Given the description of an element on the screen output the (x, y) to click on. 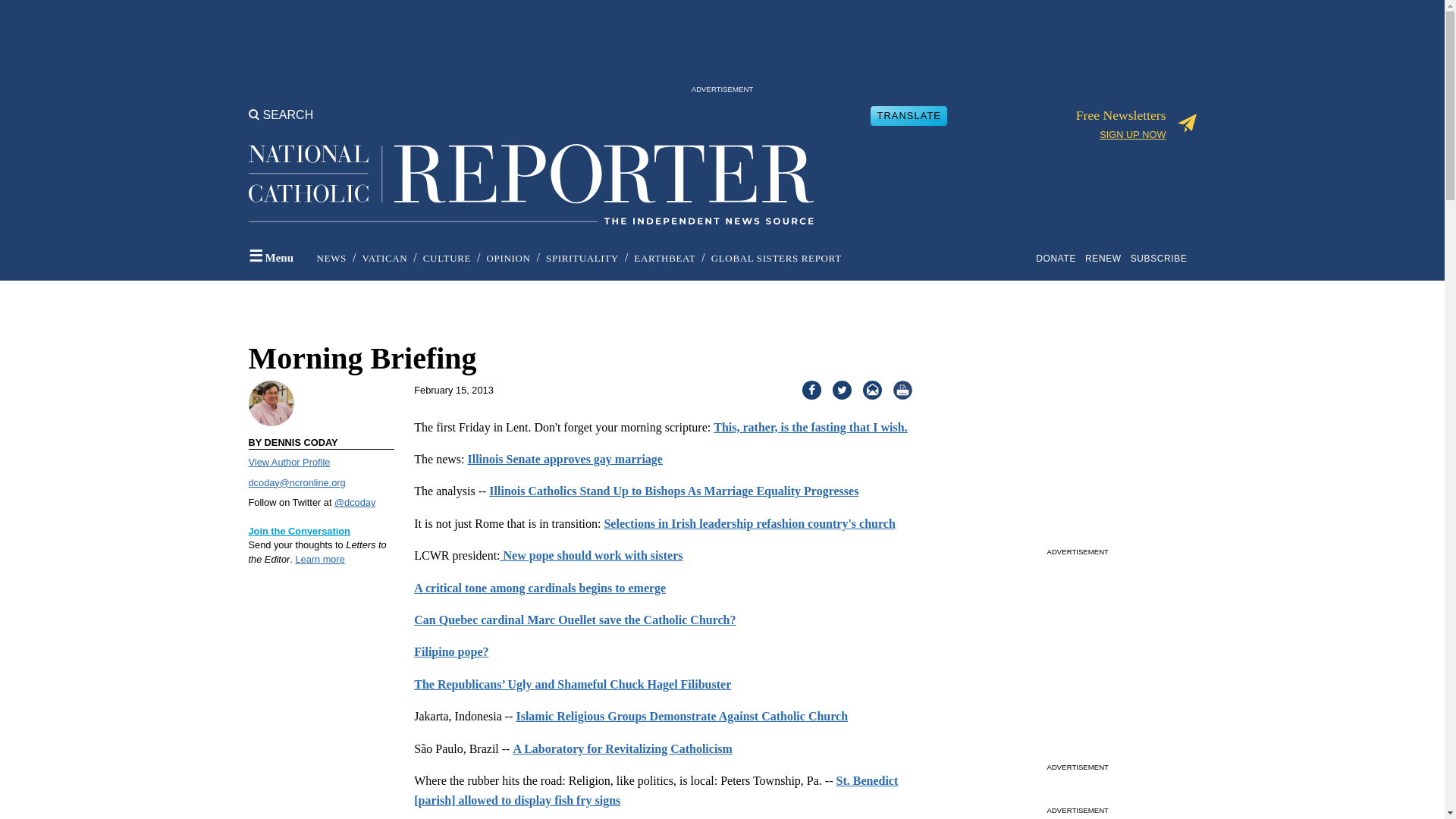
Send a letter to the editor (299, 531)
EARTHBEAT (664, 257)
3rd party ad content (1077, 447)
TRANSLATE (908, 115)
OPINION (508, 257)
SPIRITUALITY (582, 257)
NEWS (331, 257)
SUBSCRIBE (1162, 257)
3rd party ad content (721, 46)
